Given the description of an element on the screen output the (x, y) to click on. 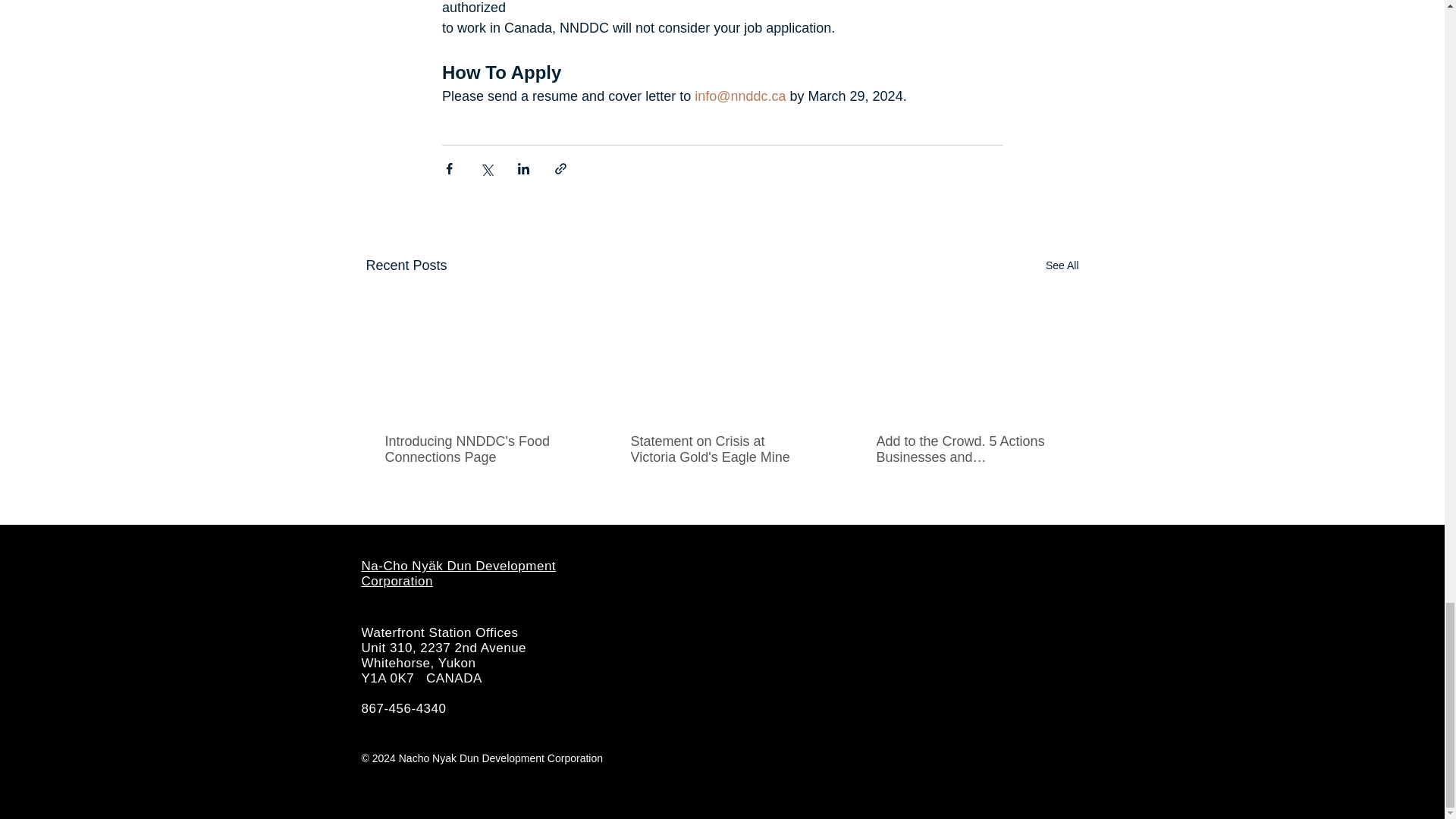
Introducing NNDDC's Food Connections Page (476, 450)
See All (1061, 265)
Statement on Crisis at Victoria Gold's Eagle Mine (721, 450)
